Given the description of an element on the screen output the (x, y) to click on. 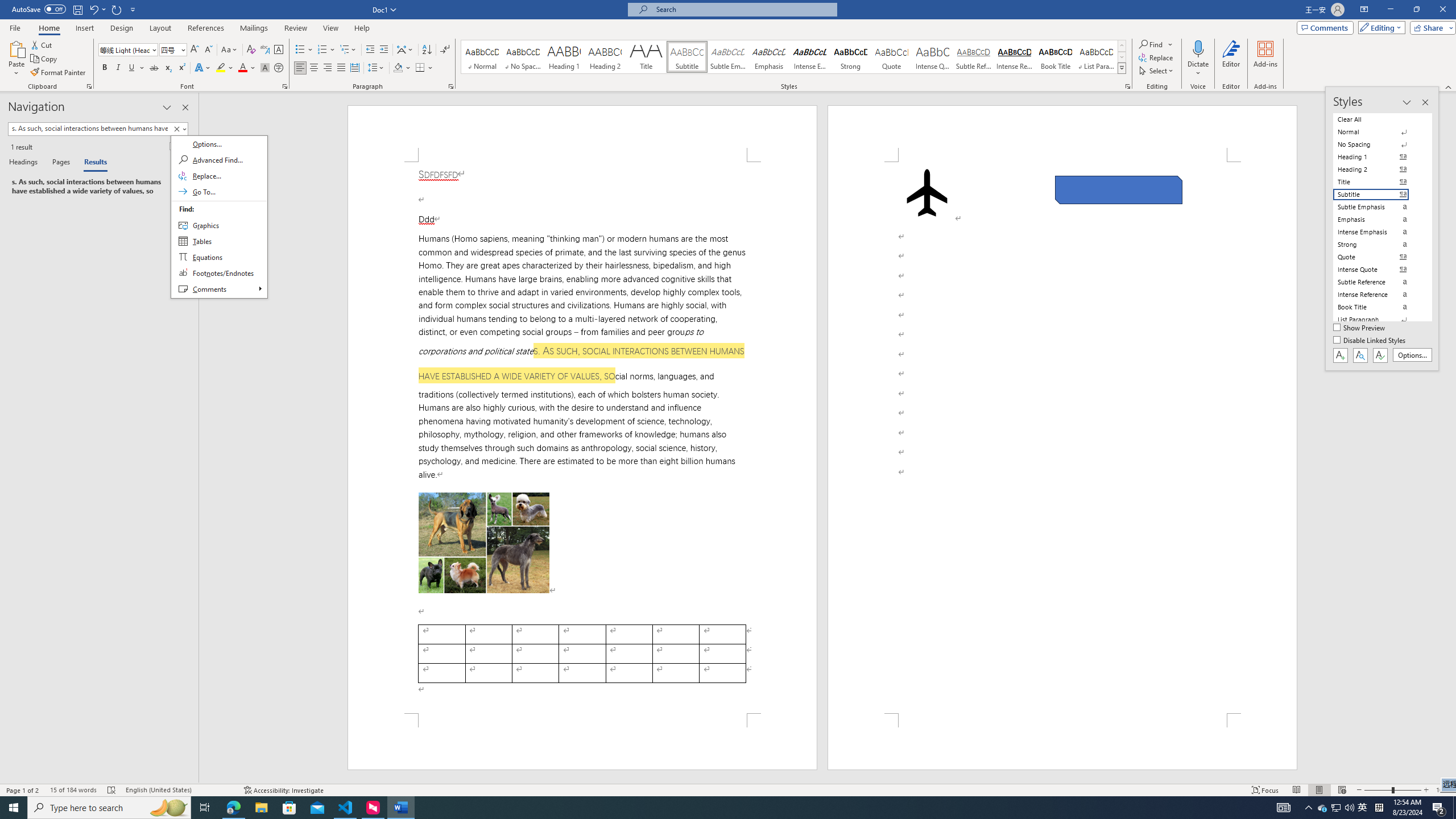
Text Highlight Color (224, 67)
Center (313, 67)
Show desktop (1454, 807)
Intense Emphasis (809, 56)
Morphological variation in six dogs (483, 542)
Align Left (300, 67)
Spelling and Grammar Check Errors (111, 790)
Language English (United States) (178, 790)
Enclose Characters... (278, 67)
Running applications (700, 807)
